Given the description of an element on the screen output the (x, y) to click on. 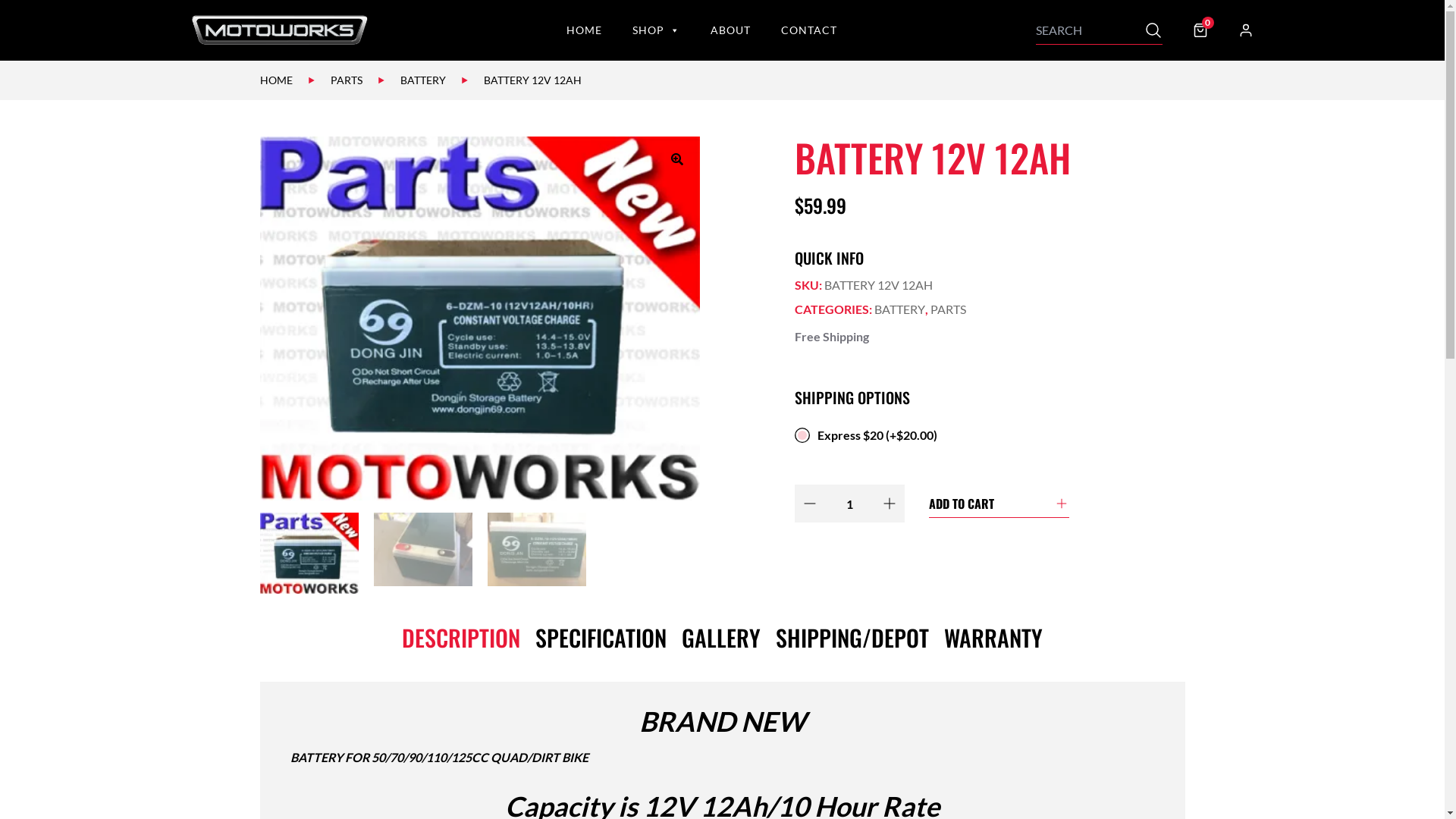
0 Element type: text (1199, 29)
GALLERY Element type: text (720, 637)
WARRANTY Element type: text (993, 637)
BATTERY Element type: text (422, 79)
Battery 12V 12AH  Element type: hover (479, 318)
SPECIFICATION Element type: text (600, 637)
Qty Element type: hover (849, 503)
SHIPPING/DEPOT Element type: text (851, 637)
HOME Element type: text (583, 30)
PARTS Element type: text (346, 79)
DESCRIPTION Element type: text (460, 637)
HOME Element type: text (275, 79)
BATTERY Element type: text (898, 308)
ADD TO CART Element type: text (998, 503)
Search Element type: text (1152, 29)
ABOUT Element type: text (729, 30)
SHOP Element type: text (656, 30)
CONTACT Element type: text (808, 30)
PARTS Element type: text (947, 308)
